Given the description of an element on the screen output the (x, y) to click on. 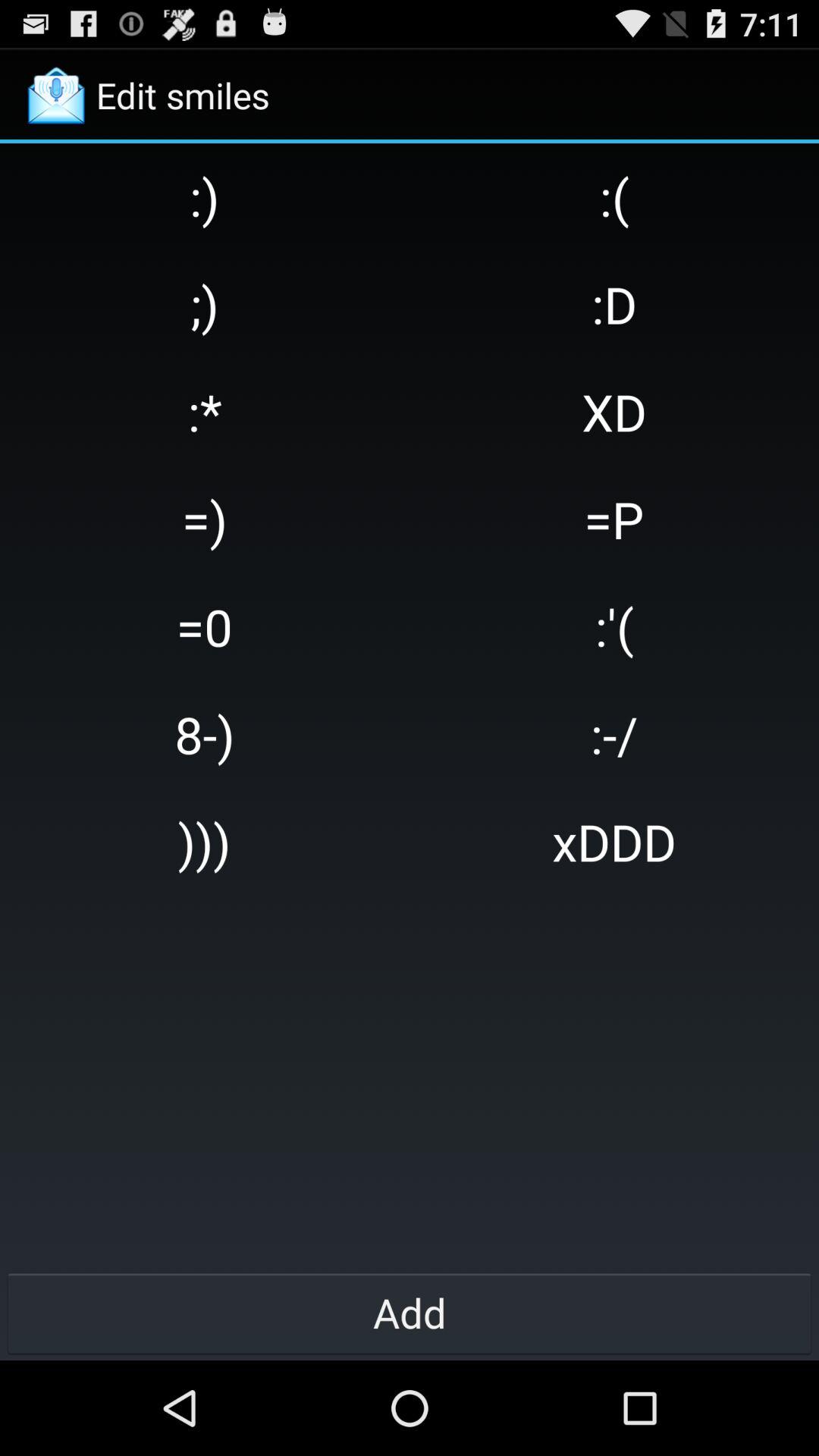
press the app below the ))) (409, 1312)
